Given the description of an element on the screen output the (x, y) to click on. 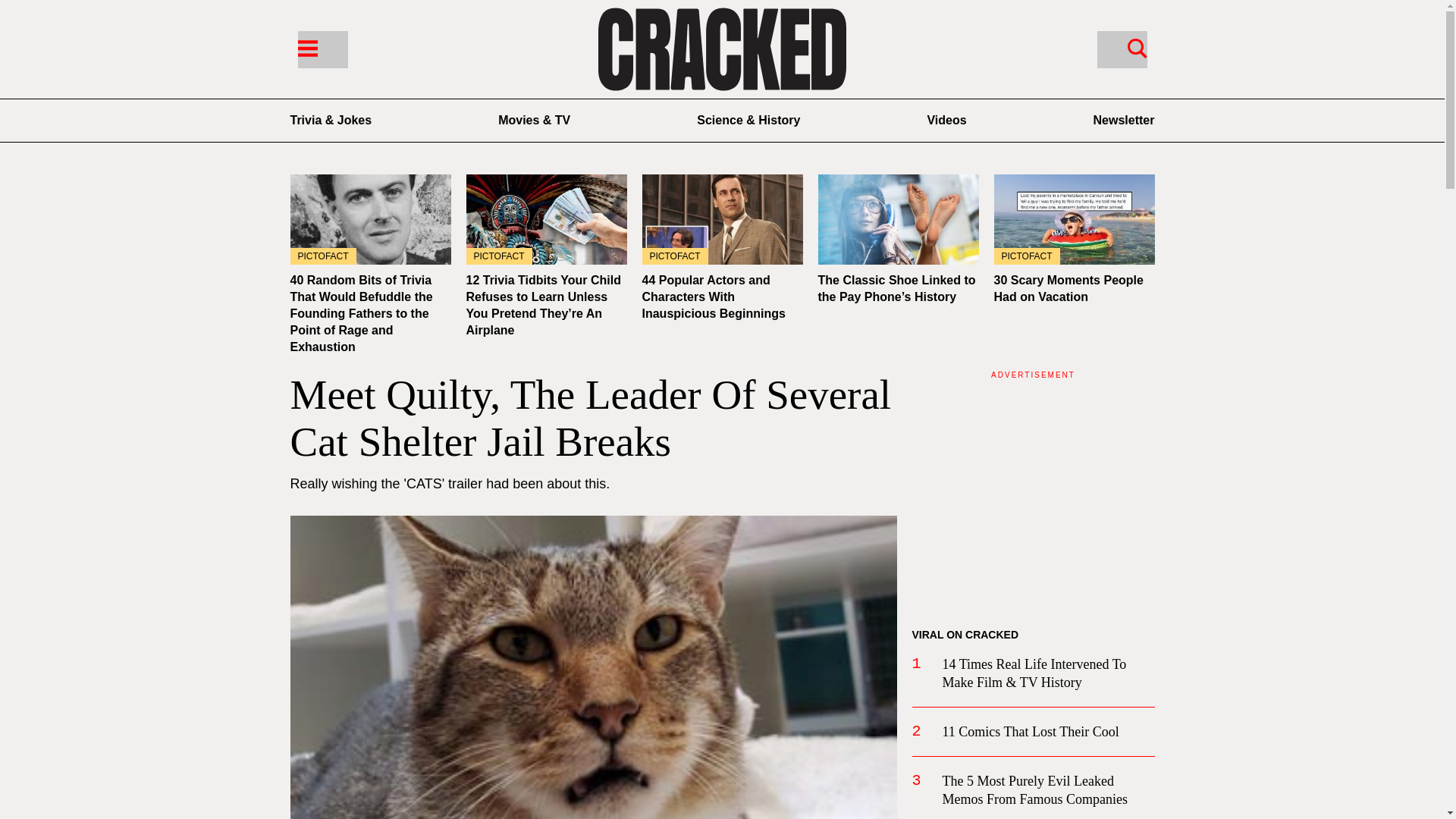
PICTOFACT (545, 219)
Videos (946, 119)
Search (1136, 47)
30 Scary Moments People Had on Vacation (1067, 288)
Cracked Newsletter (1123, 119)
PICTOFACT (722, 219)
Newsletter (1123, 119)
